Given the description of an element on the screen output the (x, y) to click on. 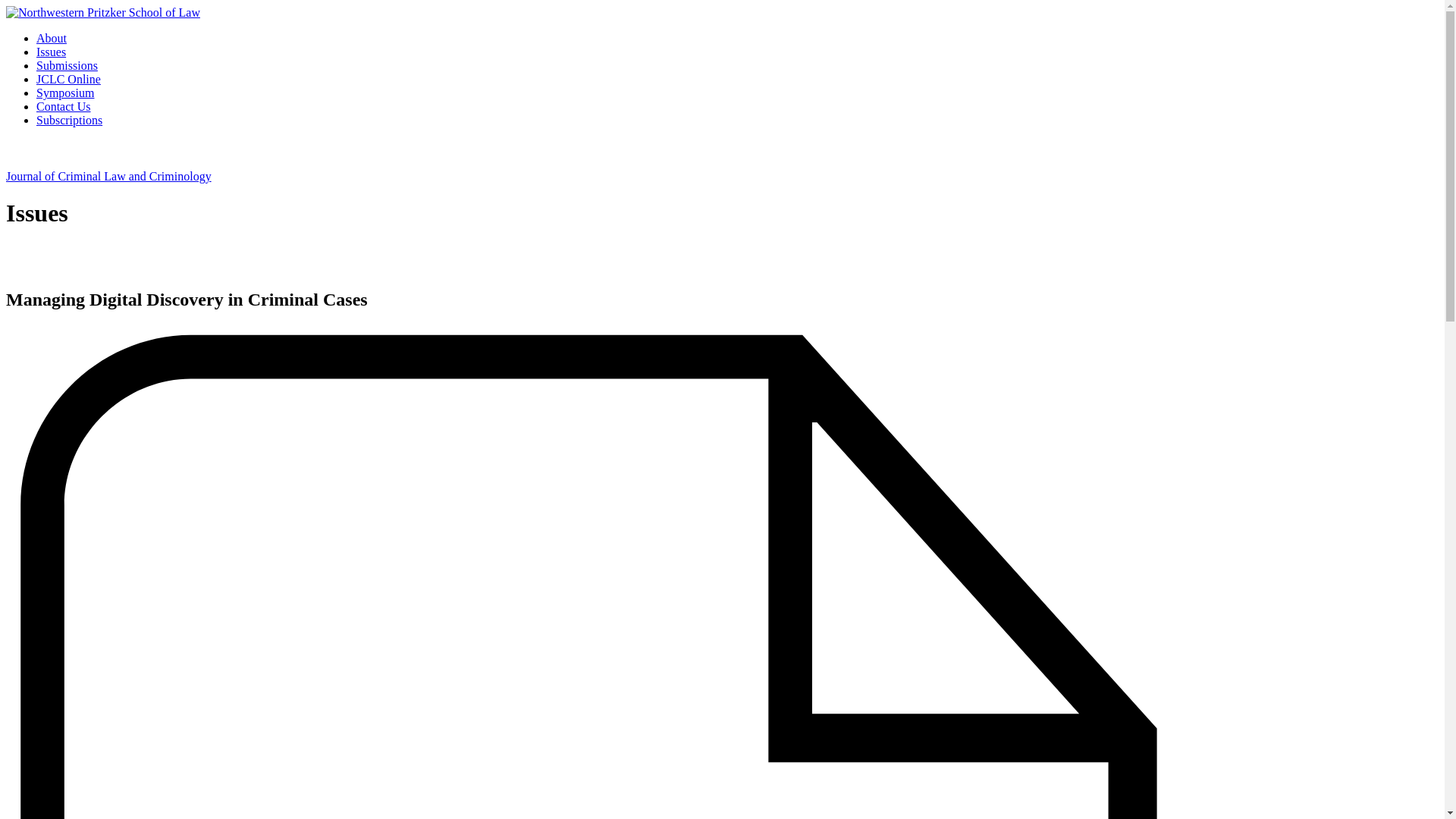
Northwestern Pritzker School of Law (102, 11)
Symposium (65, 92)
Submissions (66, 65)
About (51, 38)
Issues (50, 51)
Contact Us (63, 106)
Subscriptions (68, 119)
Journal of Criminal Law and Criminology (108, 175)
JCLC Online (68, 78)
Journal of Criminal Law and Criminology (108, 175)
